Given the description of an element on the screen output the (x, y) to click on. 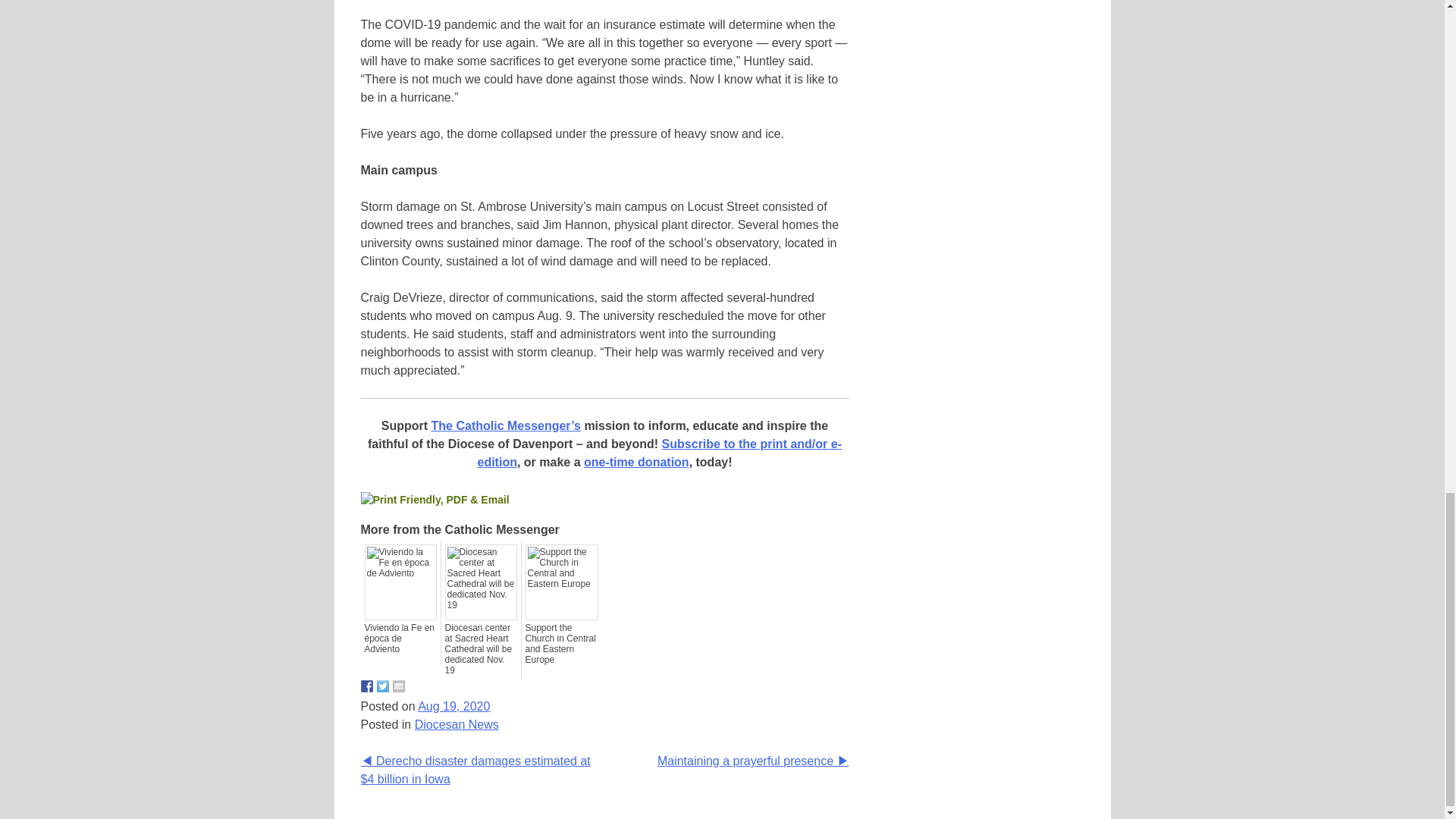
Share by email (398, 686)
Share on Facebook (366, 686)
Share on Twitter (381, 686)
